Given the description of an element on the screen output the (x, y) to click on. 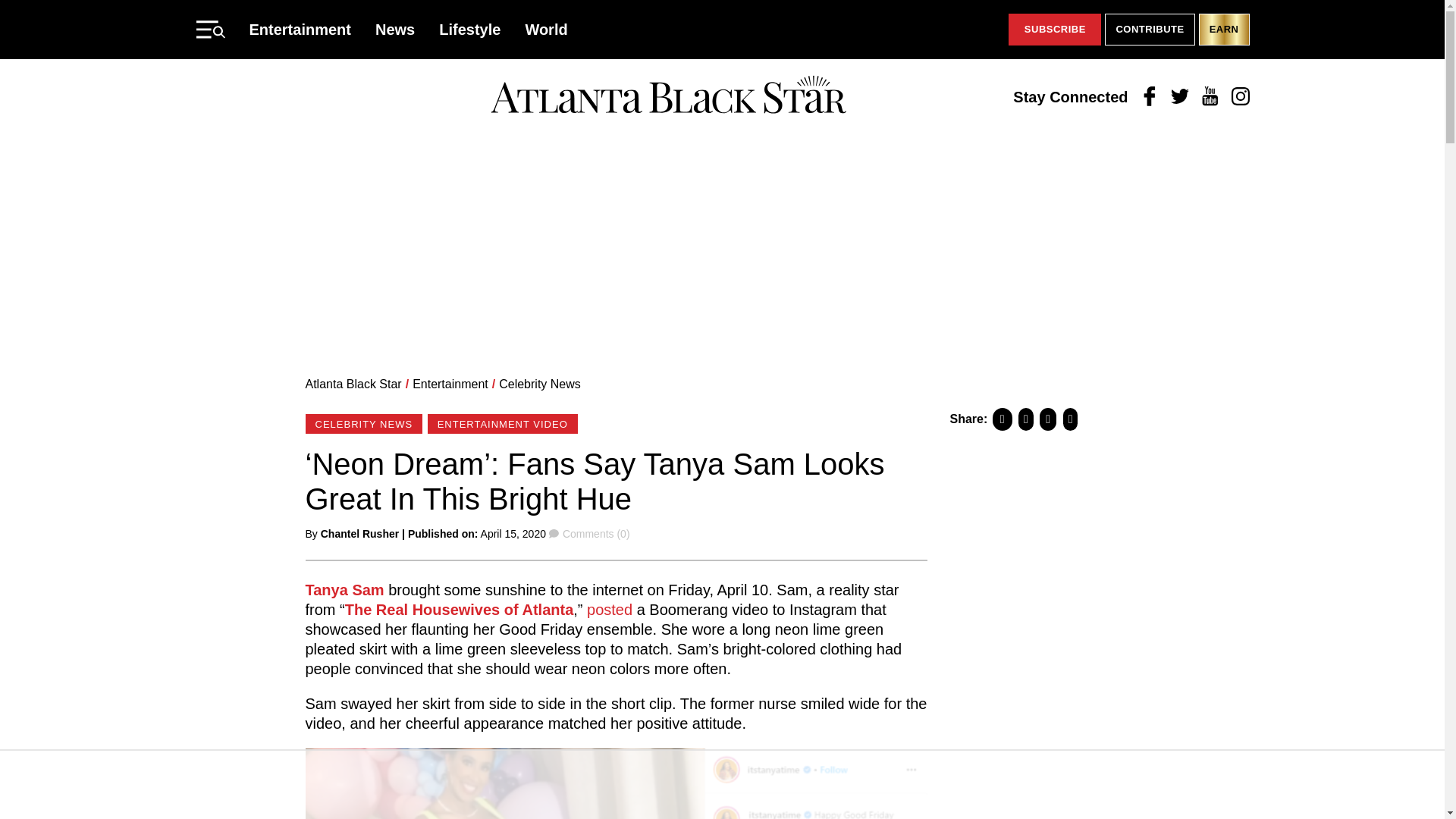
Atlanta Black Star (352, 383)
Lifestyle (469, 29)
Go to Atlanta Black Star. (352, 383)
Entertainment (299, 29)
World (545, 29)
EARN (1223, 29)
Go to the Celebrity News Category archives. (539, 383)
CONTRIBUTE (1149, 29)
Entertainment (449, 383)
Go to the Entertainment Category archives. (449, 383)
News (394, 29)
